Given the description of an element on the screen output the (x, y) to click on. 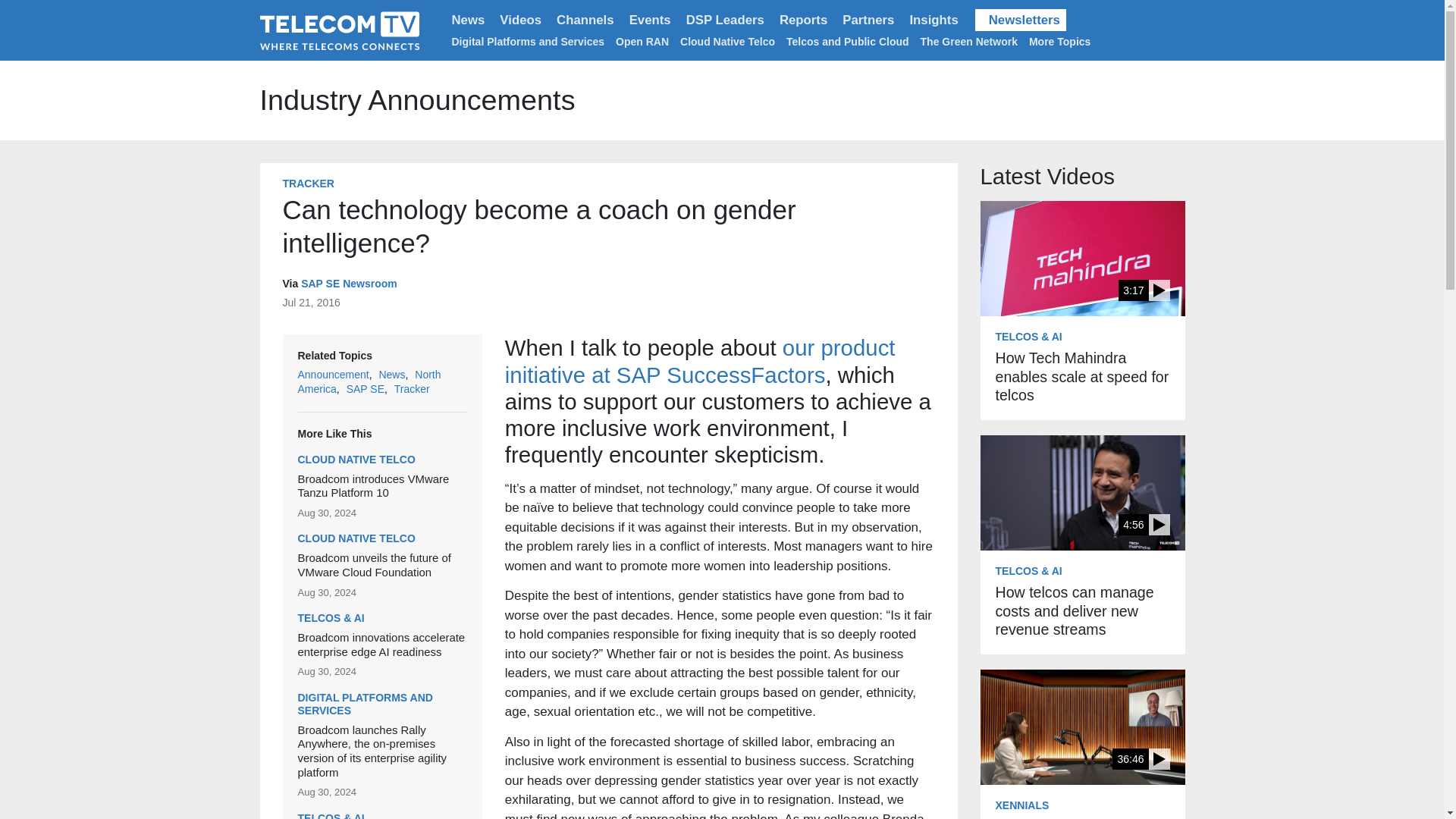
Telcos and Public Cloud (847, 41)
News (468, 20)
Channels (585, 20)
Videos (520, 20)
Newsletters (1020, 20)
Digital Platforms and Services (528, 41)
Events (650, 20)
Cloud Native Telco (726, 41)
Open RAN (641, 41)
The Green Network (968, 41)
